Given the description of an element on the screen output the (x, y) to click on. 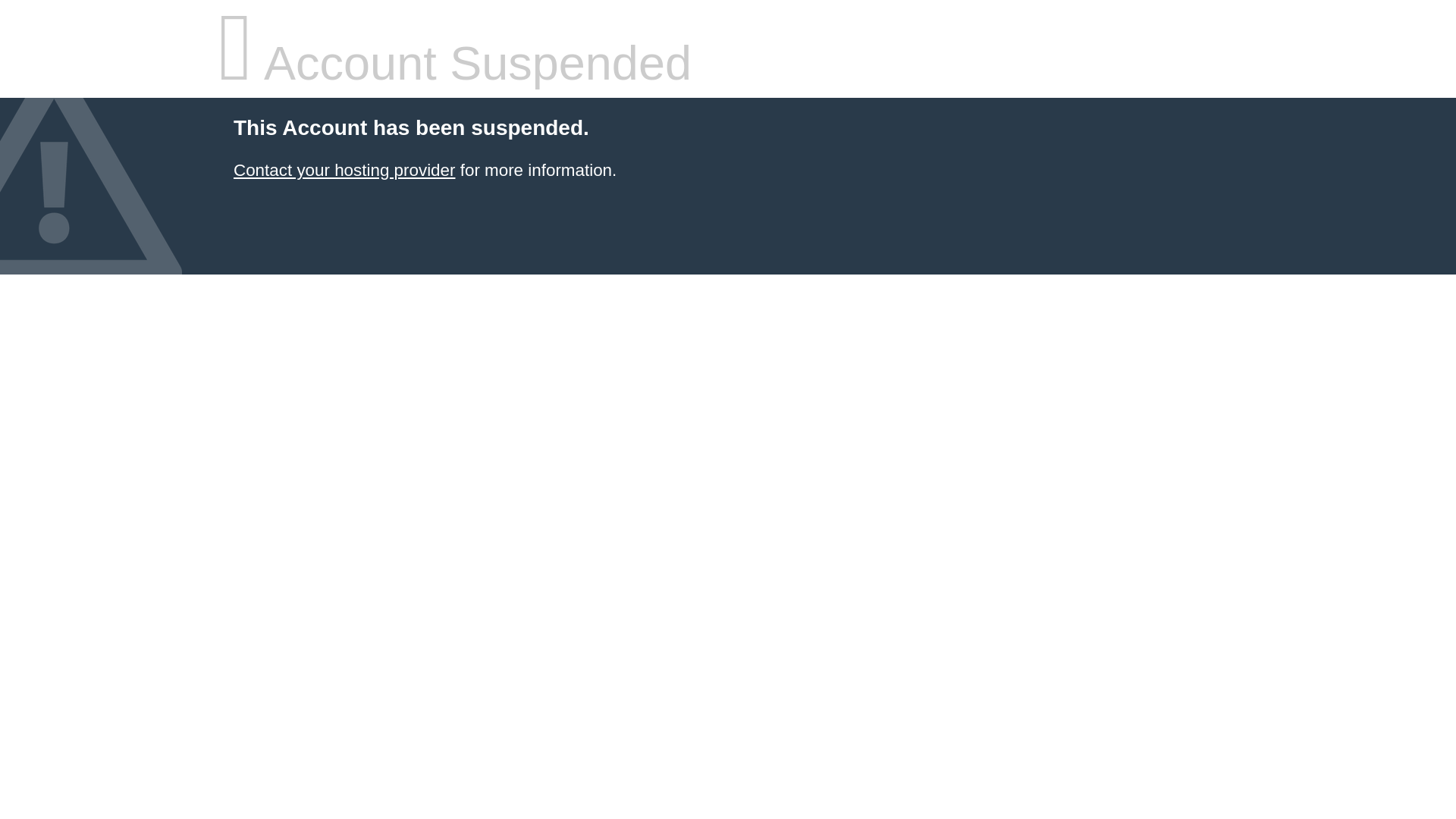
Contact your hosting provider (343, 169)
